Given the description of an element on the screen output the (x, y) to click on. 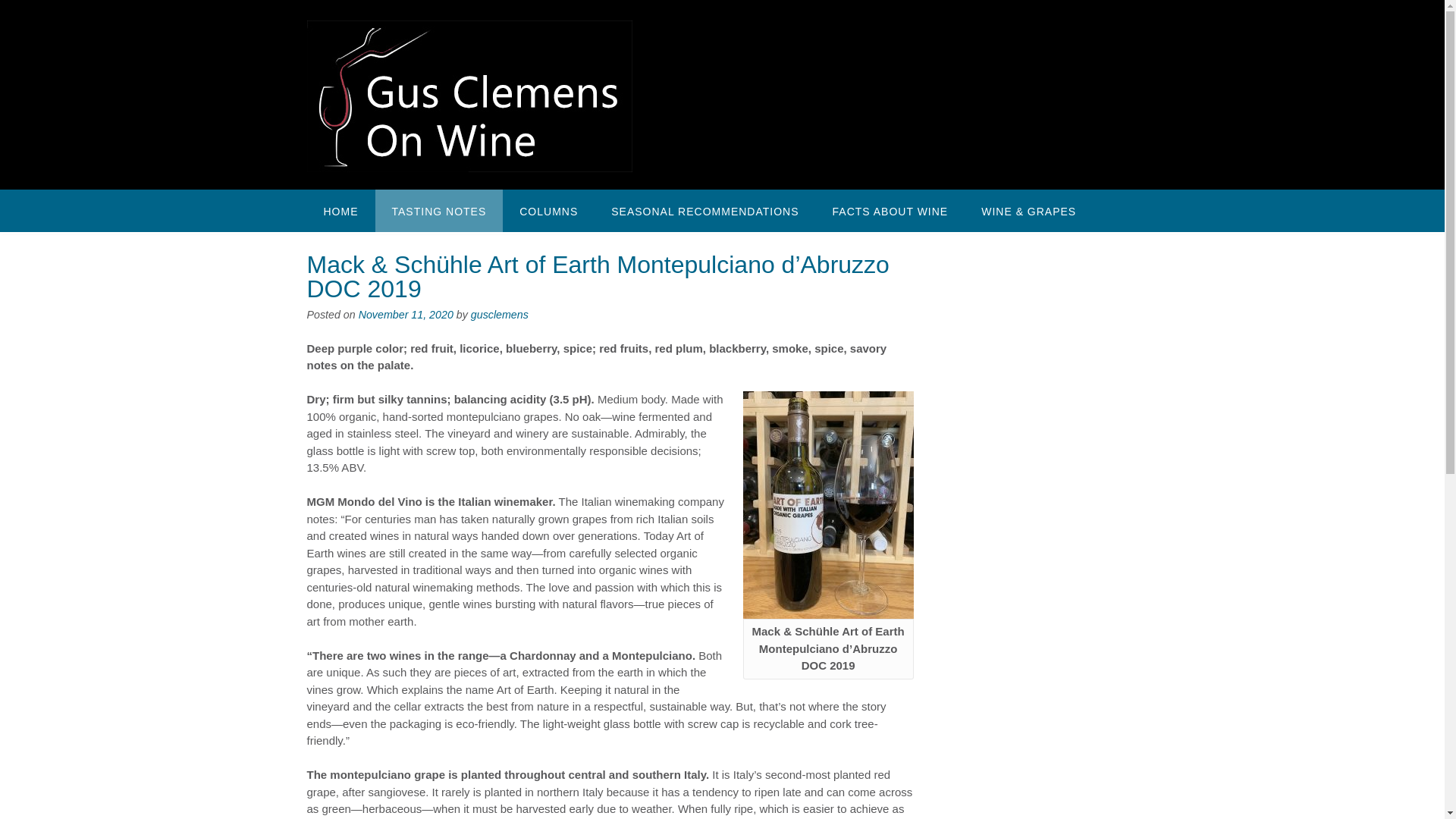
FACTS ABOUT WINE (890, 210)
HOME (339, 210)
COLUMNS (548, 210)
TASTING NOTES (438, 210)
November 11, 2020 (405, 314)
SEASONAL RECOMMENDATIONS (704, 210)
gusclemens (499, 314)
